Given the description of an element on the screen output the (x, y) to click on. 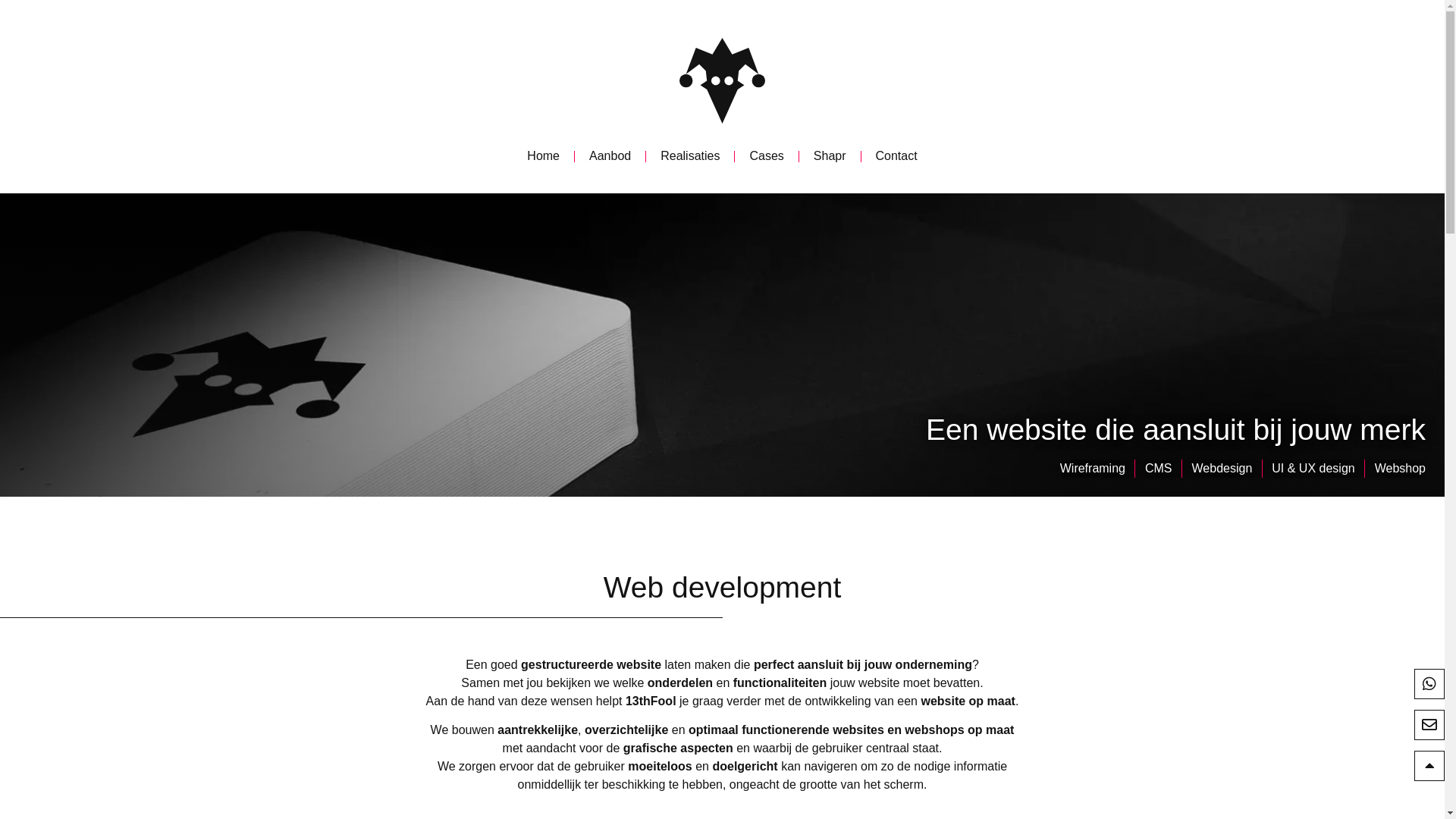
Cases Element type: text (766, 155)
Shapr Element type: text (829, 155)
Wireframing Element type: text (1092, 468)
CMS Element type: text (1158, 468)
Home Element type: text (542, 155)
UI & UX design Element type: text (1312, 468)
grafische aspecten Element type: text (678, 747)
Webshop Element type: text (1399, 468)
Aanbod Element type: text (610, 155)
Contact Element type: text (896, 155)
Webdesign Element type: text (1222, 468)
Realisaties Element type: text (689, 155)
perfect aansluit bij jouw onderneming Element type: text (862, 664)
